Given the description of an element on the screen output the (x, y) to click on. 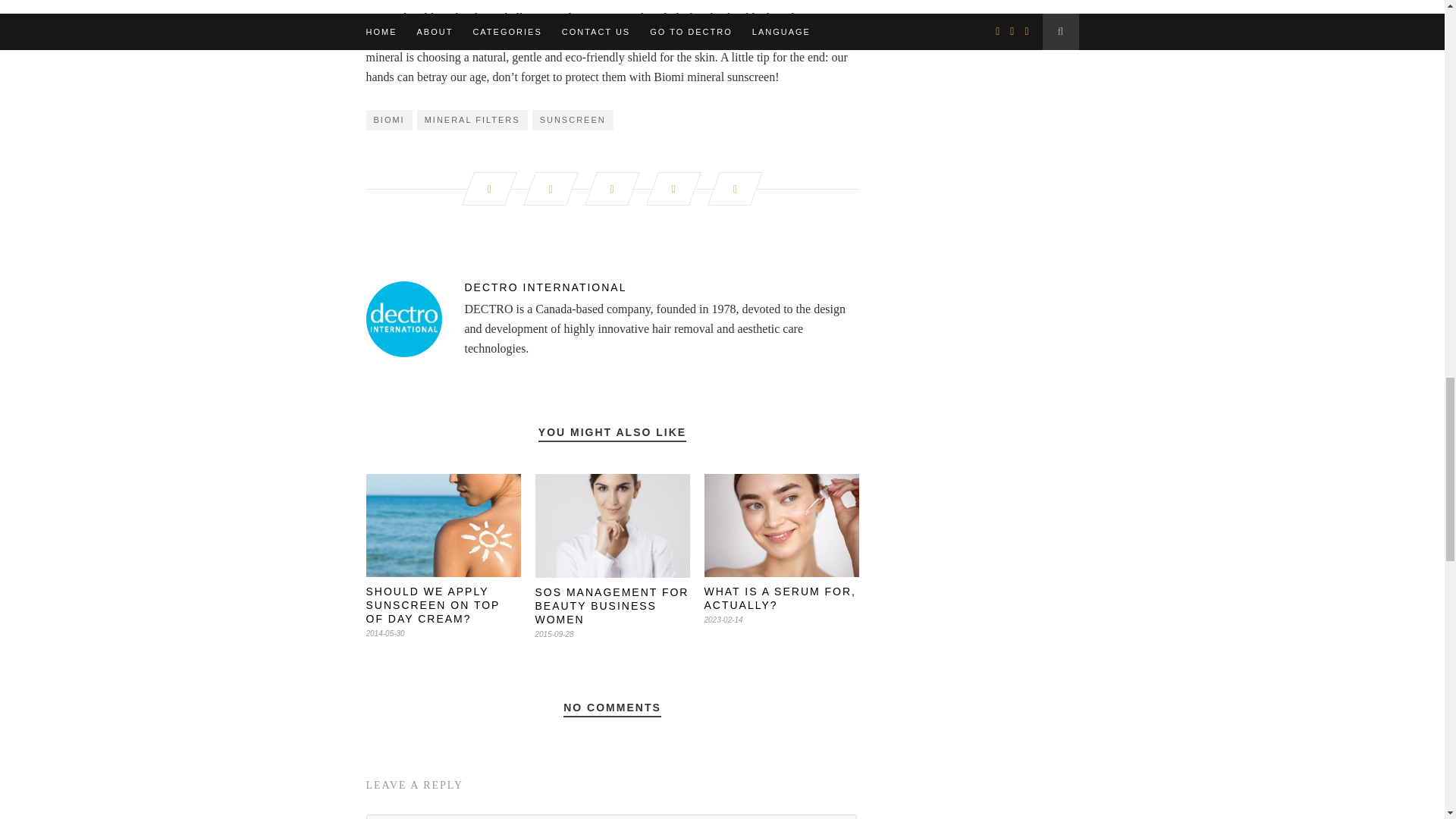
Posts by Dectro International (612, 287)
MINERAL FILTERS (471, 119)
SUNSCREEN (572, 119)
BIOMI (388, 119)
